Given the description of an element on the screen output the (x, y) to click on. 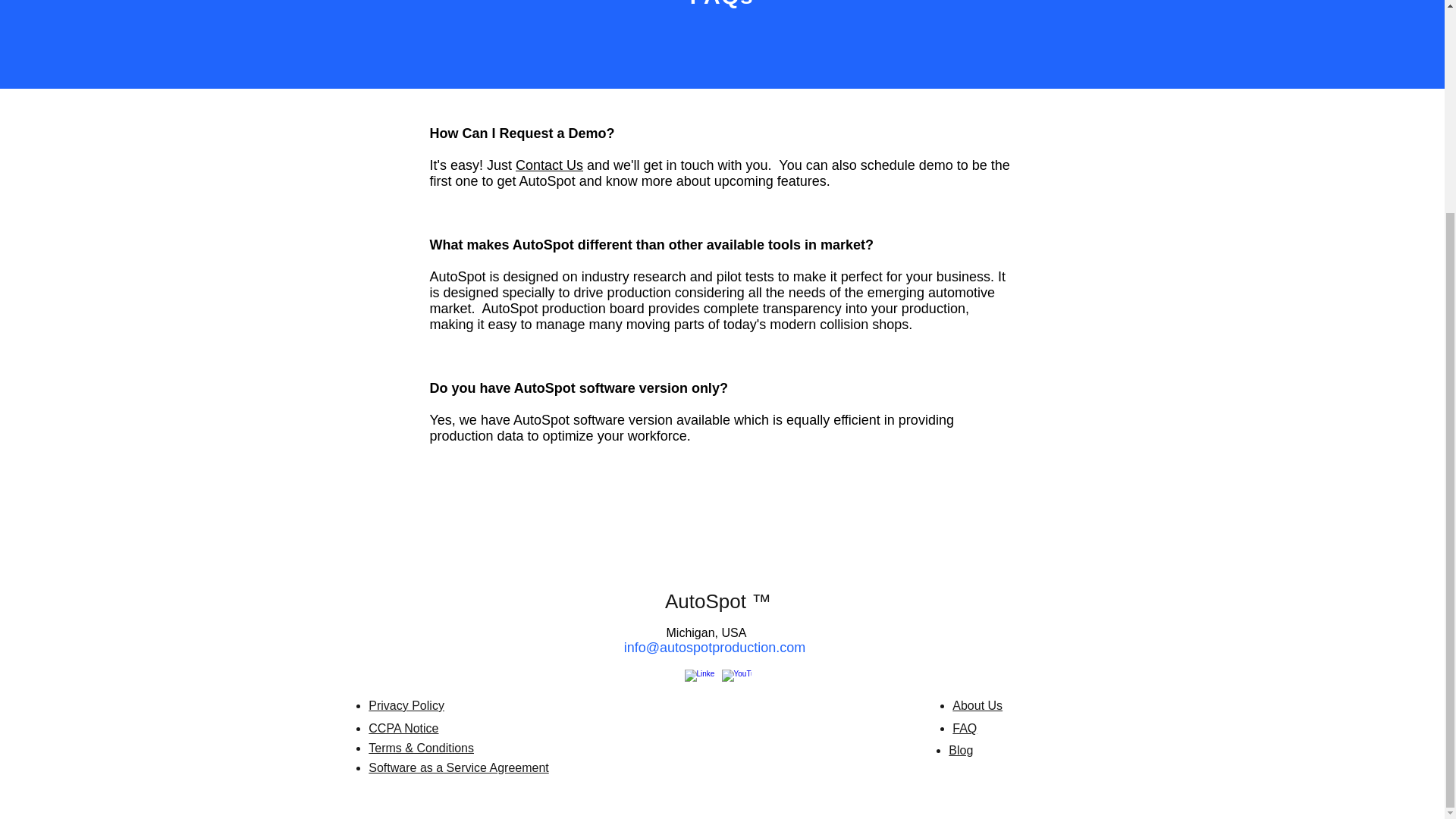
Privacy Policy (406, 705)
Software as a Service Agreement (458, 767)
CCPA Notice (403, 727)
Contact Us (549, 165)
FAQ (964, 727)
About Us (977, 705)
Blog (960, 749)
